Given the description of an element on the screen output the (x, y) to click on. 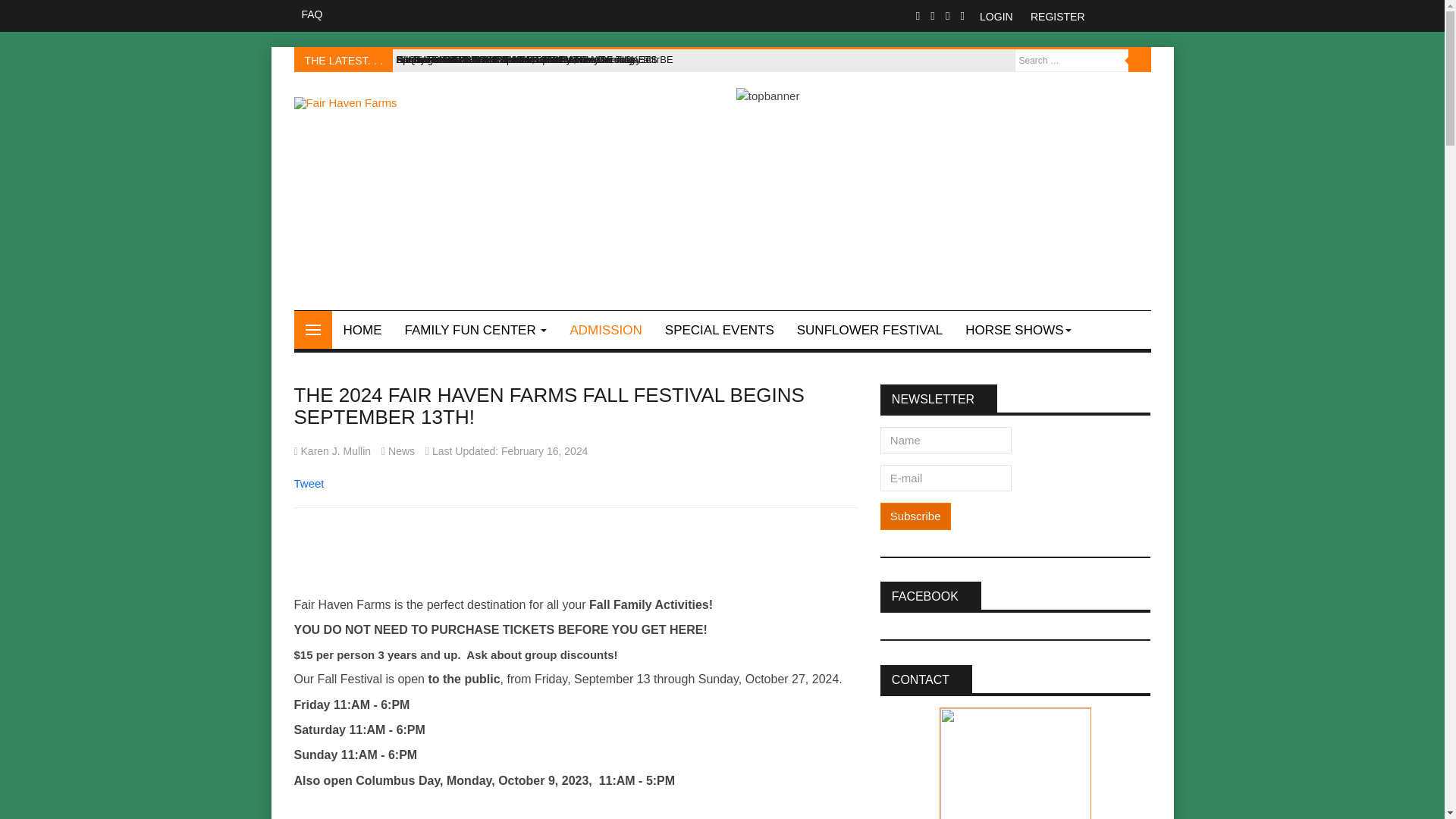
News (401, 451)
Farm Animals: Come to the barn and meet our friendly (514, 59)
FAQs: These are some of the frequently asked (497, 59)
E-mail (945, 478)
Tweet (309, 482)
HOME (362, 329)
E-mail (945, 478)
Category:  (397, 451)
Dressage: DRESSAGE SHOWS 2024 WPDA Dressag (515, 59)
Kid Zone: At Fair Haven Farms, we offer many att (504, 59)
SPECIAL EVENTS (719, 329)
Admission: YOU DO NOT NEED TO PURCHASE TICKETS BE (534, 59)
Search (1139, 60)
